Given the description of an element on the screen output the (x, y) to click on. 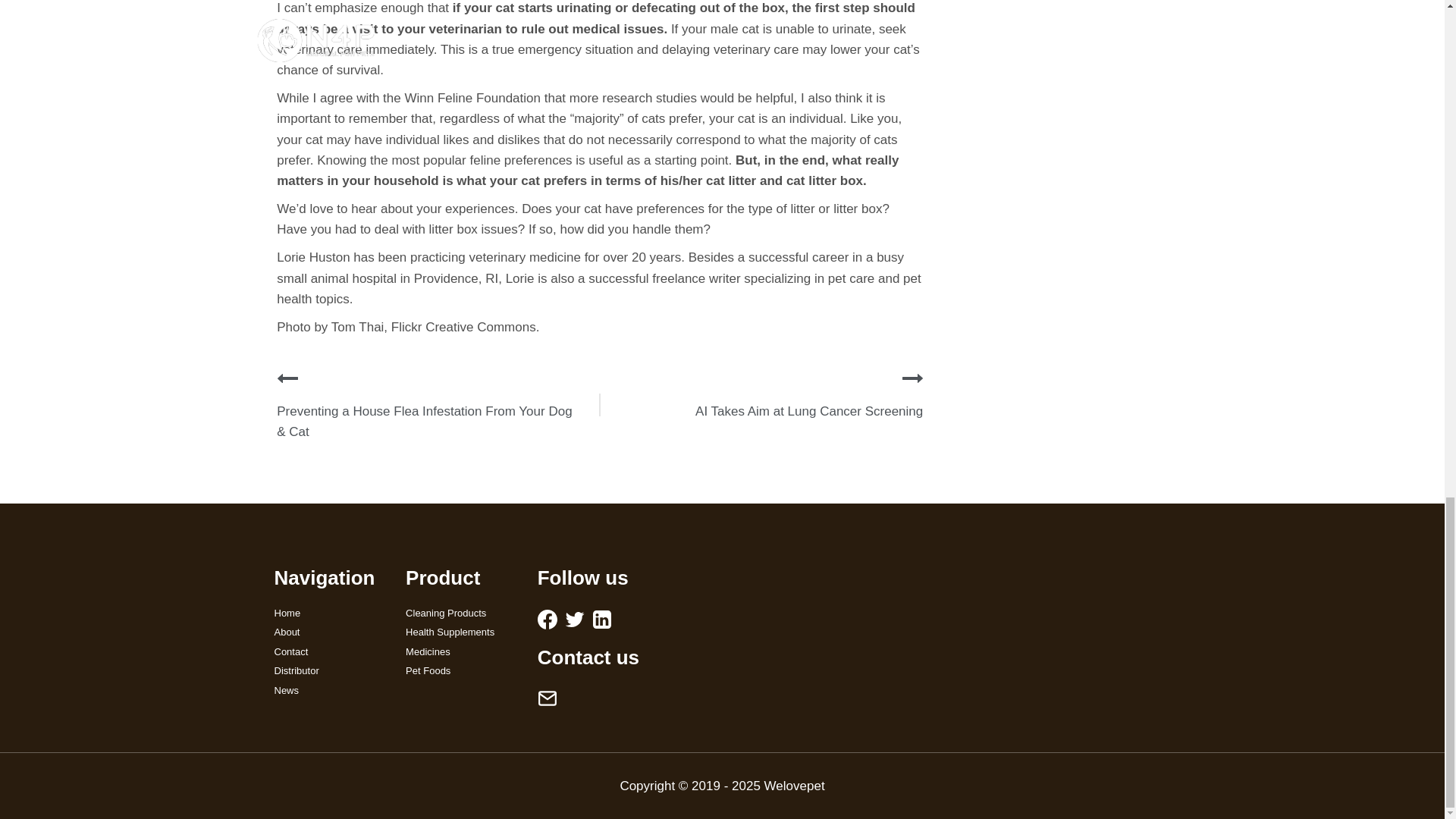
Twitter (574, 619)
next article (912, 378)
AI Takes Aim at Lung Cancer Screening (809, 411)
Linkedin (601, 619)
Home (329, 613)
previous article (287, 378)
